Given the description of an element on the screen output the (x, y) to click on. 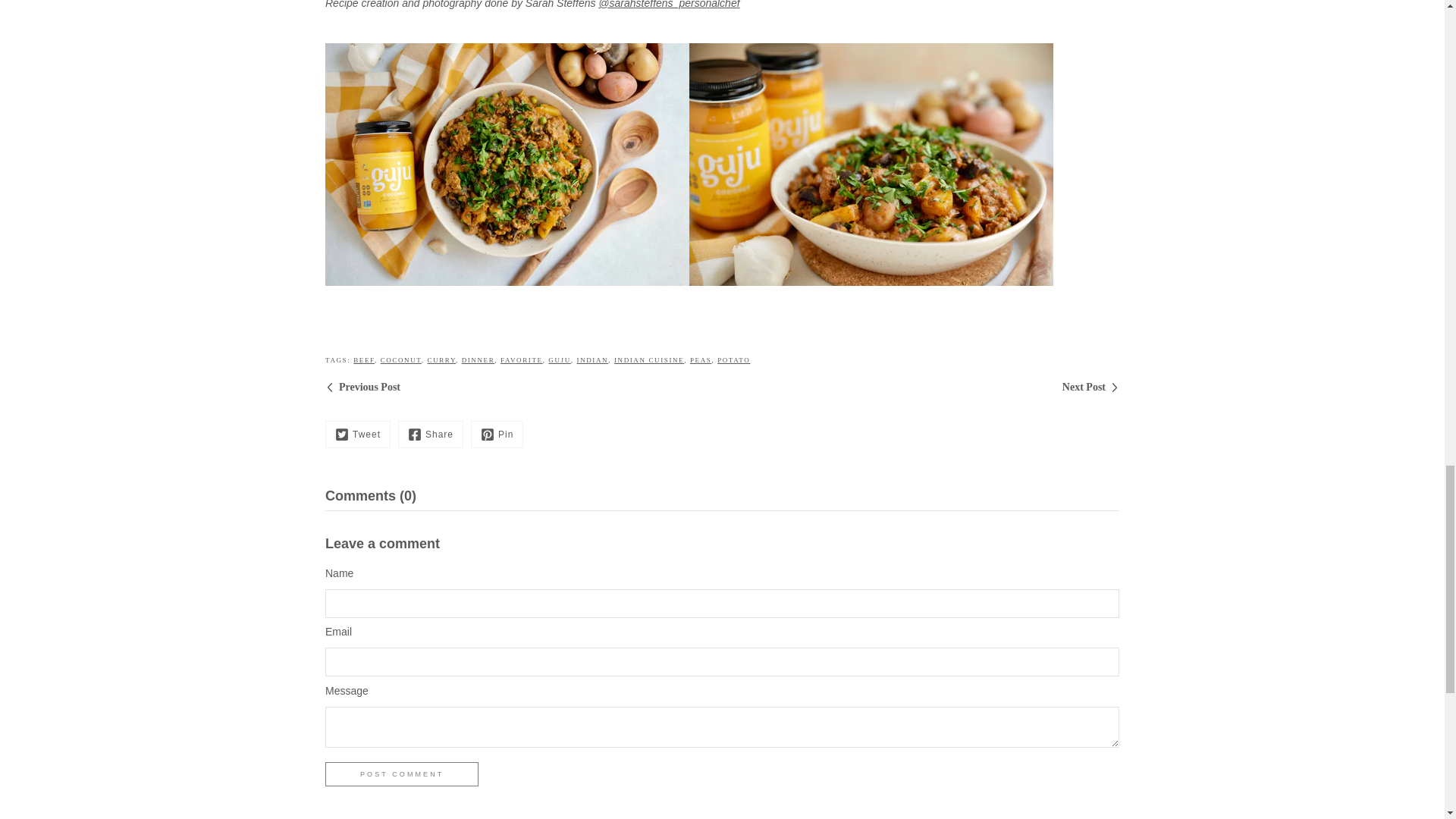
CURRY (441, 359)
Previous Post (362, 387)
DINNER (478, 359)
Pinterest (496, 433)
GUJU (559, 359)
BEEF (363, 359)
Post Comment (401, 774)
INDIAN (592, 359)
FAVORITE (521, 359)
PEAS (700, 359)
INDIAN CUISINE (649, 359)
COCONUT (401, 359)
POTATO (733, 359)
Sarah Steffens Personal Chef Instagram (668, 4)
Facebook (430, 433)
